Given the description of an element on the screen output the (x, y) to click on. 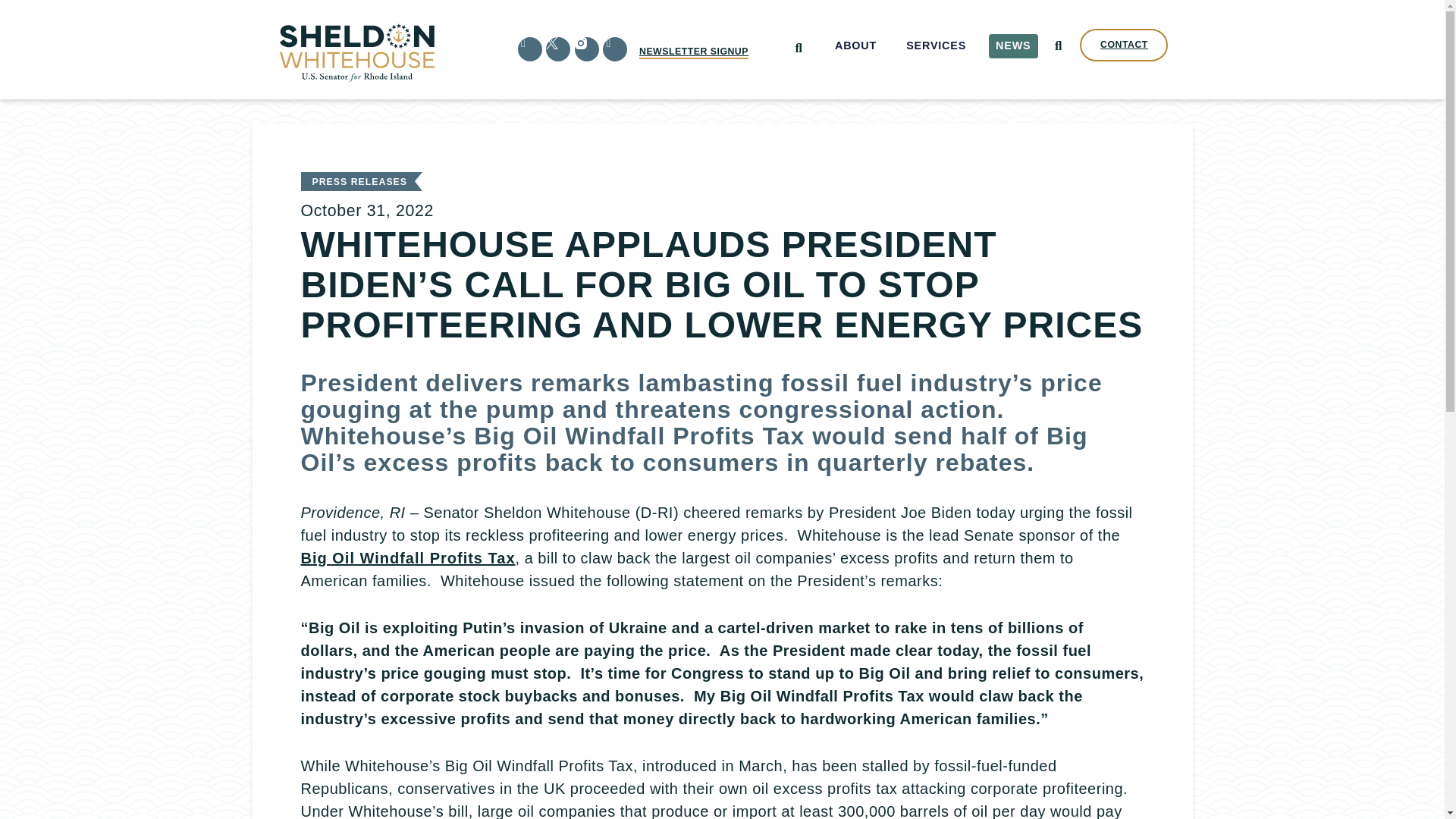
SERVICES (936, 46)
CONTACT (1123, 44)
NEWSLETTER SIGNUP (693, 51)
Big Oil Windfall Profits Tax (407, 557)
ABOUT (855, 46)
NEWS (1013, 46)
PRESS RELEASES (360, 181)
